Given the description of an element on the screen output the (x, y) to click on. 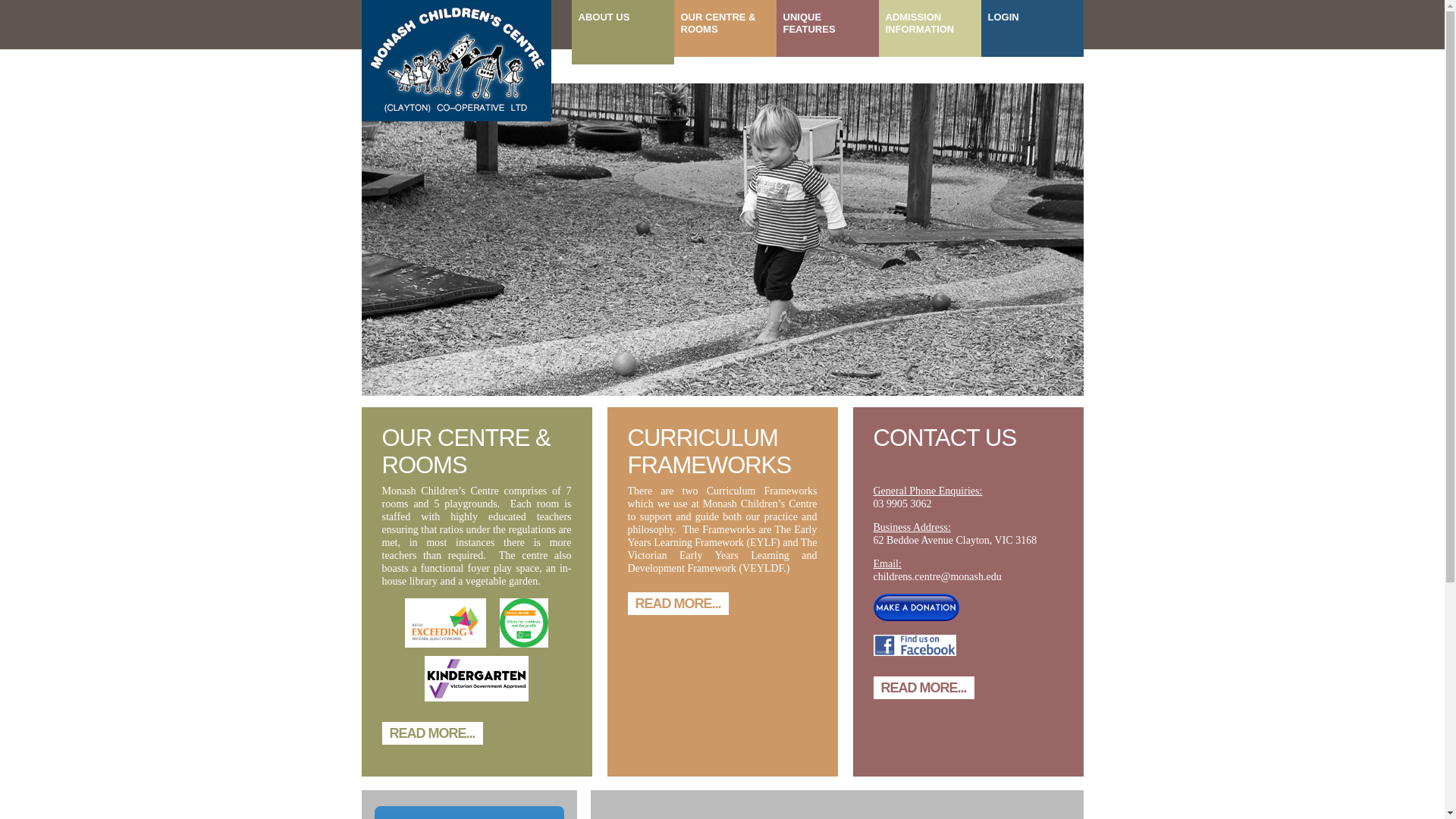
READ MORE... Element type: text (923, 687)
childrens.centre@monash.edu Element type: text (937, 575)
OUR CENTRE & ROOMS Element type: text (724, 28)
Make a donation Element type: hover (916, 606)
UNIQUE FEATURES Element type: text (827, 28)
ADMISSION INFORMATION Element type: text (929, 28)
LOGIN Element type: text (1032, 28)
READ MORE... Element type: text (432, 732)
ABOUT US Element type: text (622, 32)
Kinder Garten Victoria Element type: hover (476, 677)
READ MORE... Element type: text (677, 602)
